Given the description of an element on the screen output the (x, y) to click on. 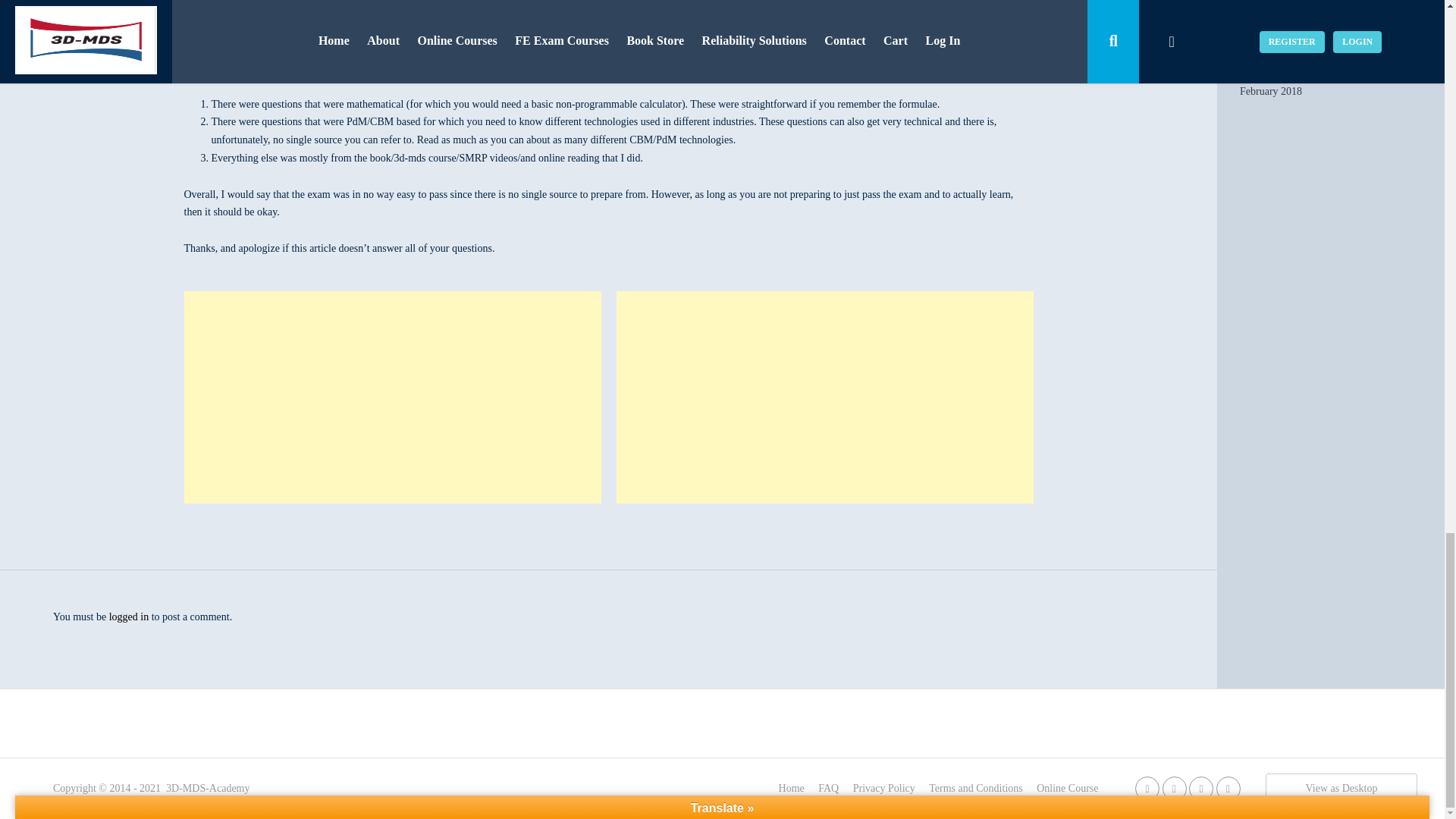
Advertisement (823, 397)
youtube (1200, 787)
Advertisement (391, 397)
linkedin (1173, 787)
facebook (1146, 787)
View as Desktop (1340, 787)
